Given the description of an element on the screen output the (x, y) to click on. 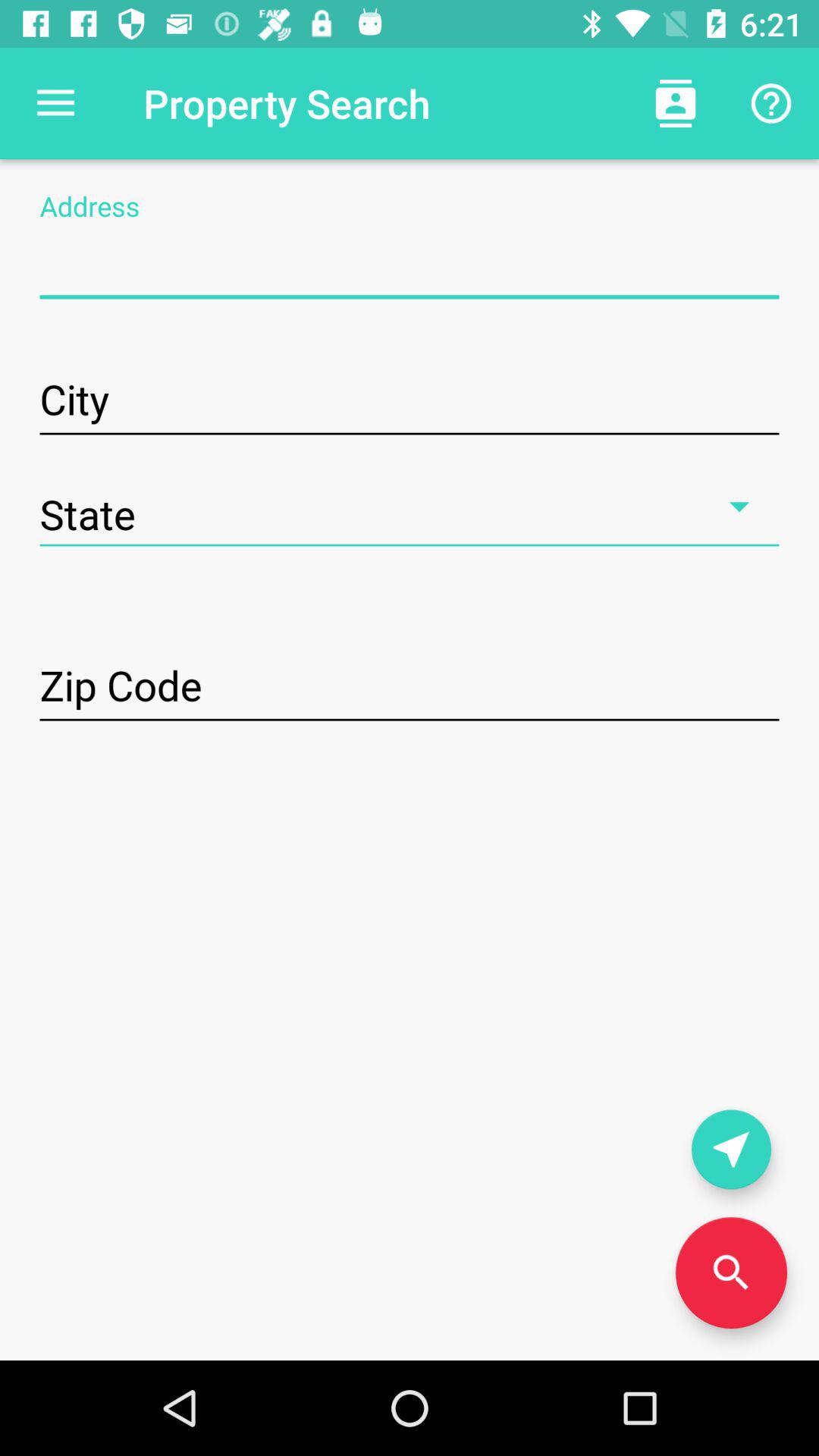
open icon next to property search item (675, 103)
